Given the description of an element on the screen output the (x, y) to click on. 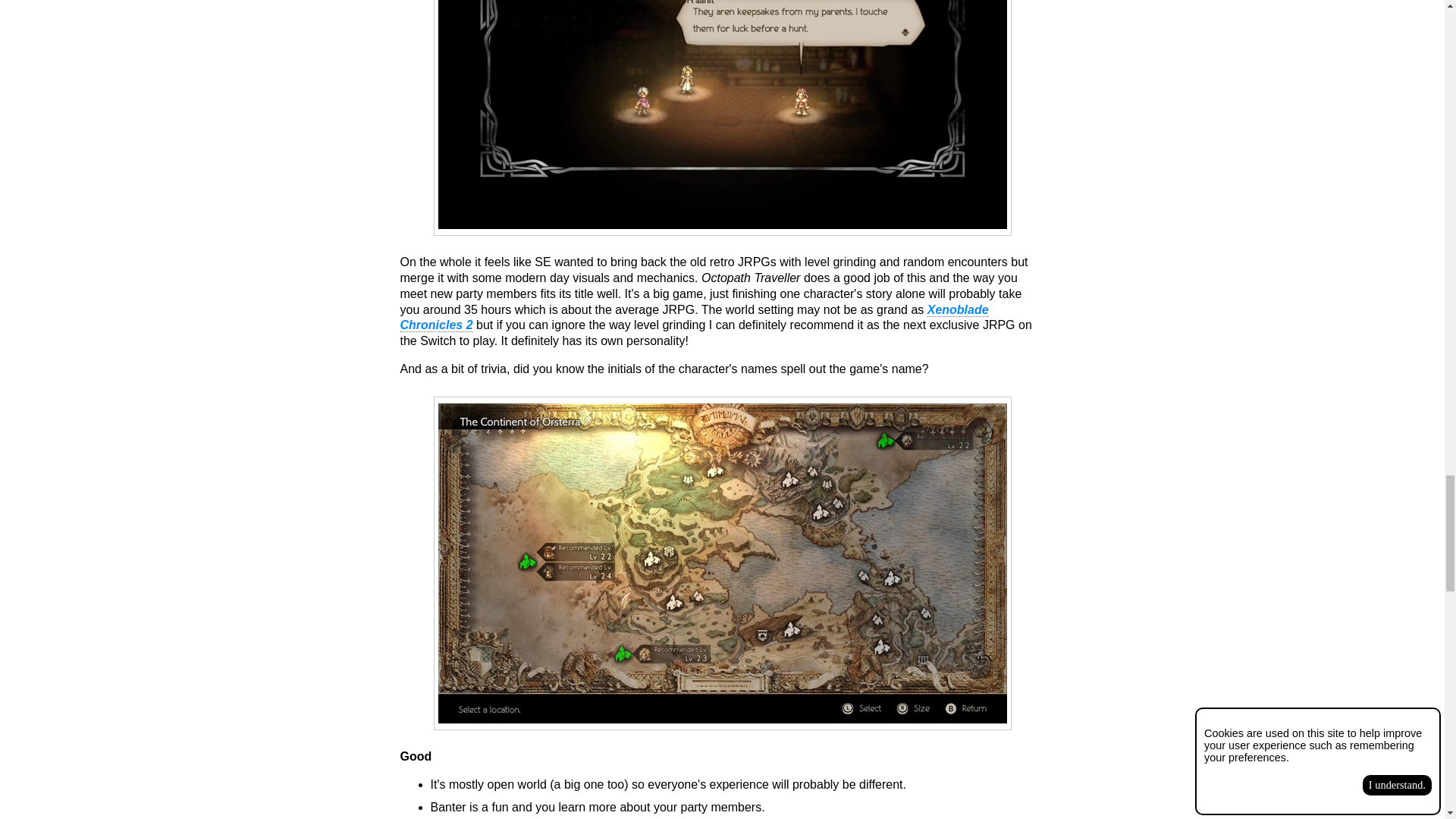
Xenoblade Chronicles 2 (694, 317)
